Given the description of an element on the screen output the (x, y) to click on. 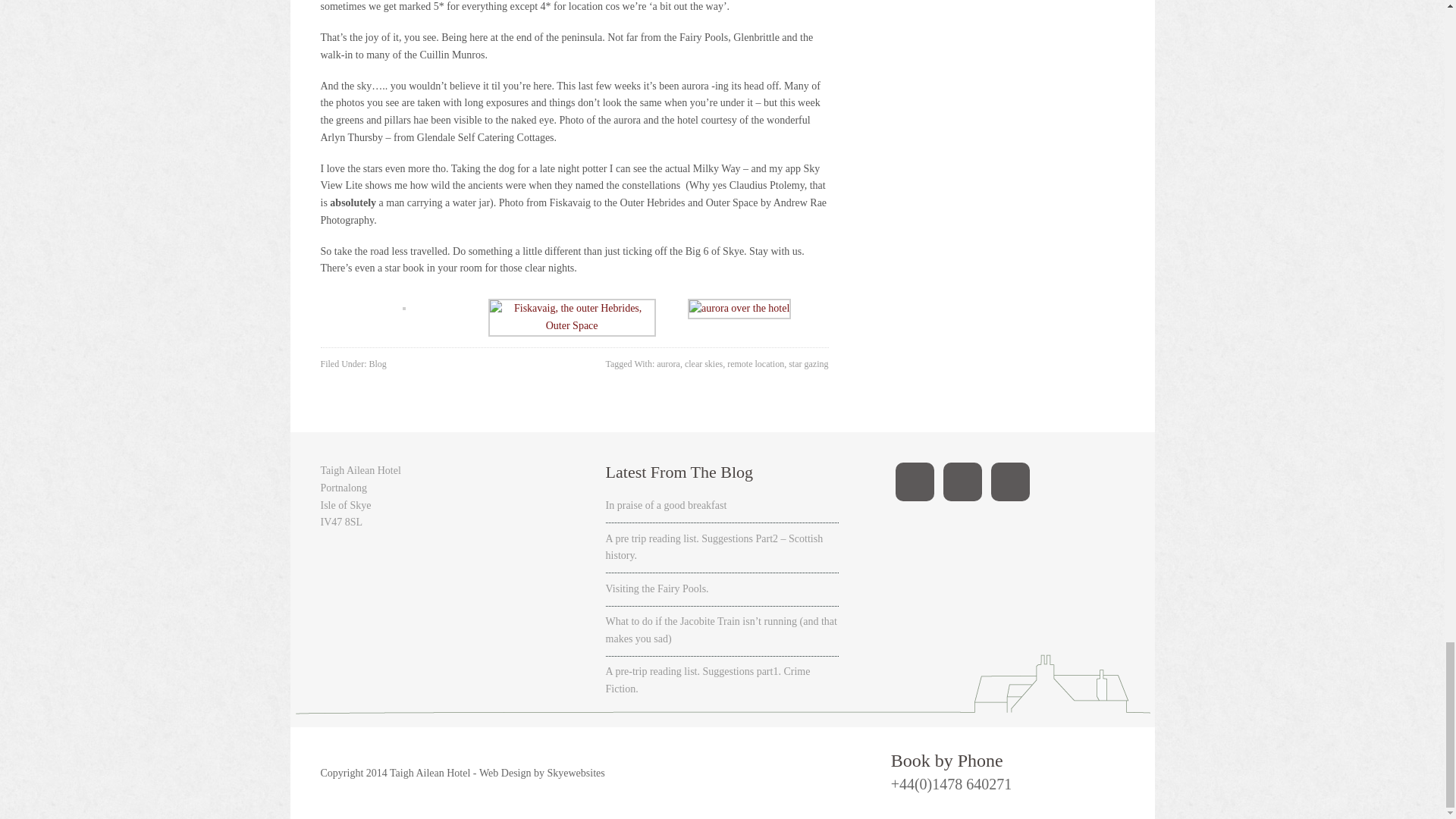
Web Design by Skyewebsites (542, 772)
